Given the description of an element on the screen output the (x, y) to click on. 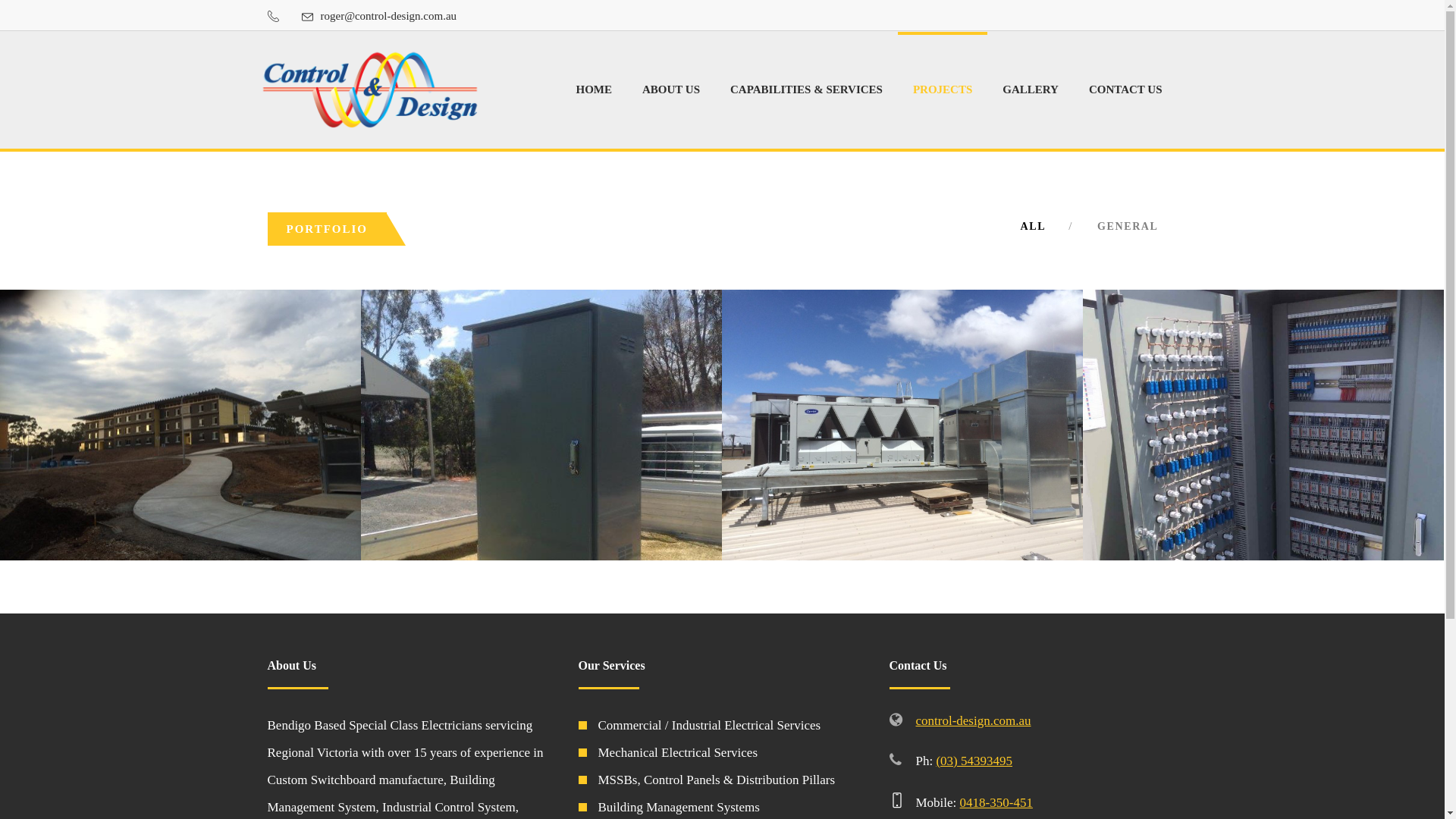
GENERAL Element type: text (1127, 226)
CONTACT US Element type: text (1125, 89)
Puckapunyal Army Barracks Element type: hover (180, 423)
PROJECTS Element type: text (942, 89)
ABOUT US Element type: text (671, 89)
Horsham Performing Arts Centre Element type: hover (901, 423)
McCaig Air-conditioning Numurkah Hospital Element type: hover (1262, 423)
(03) 54393495 Element type: text (973, 760)
CAPABILITIES & SERVICES Element type: text (806, 89)
HOME Element type: text (594, 89)
0418-350-451 Element type: text (996, 802)
ALL Element type: text (1033, 226)
GALLERY Element type: text (1030, 89)
Custom Switchboards Element type: hover (540, 423)
control-design.com.au Element type: text (973, 720)
roger@control-design.com.au Element type: text (388, 15)
